Given the description of an element on the screen output the (x, y) to click on. 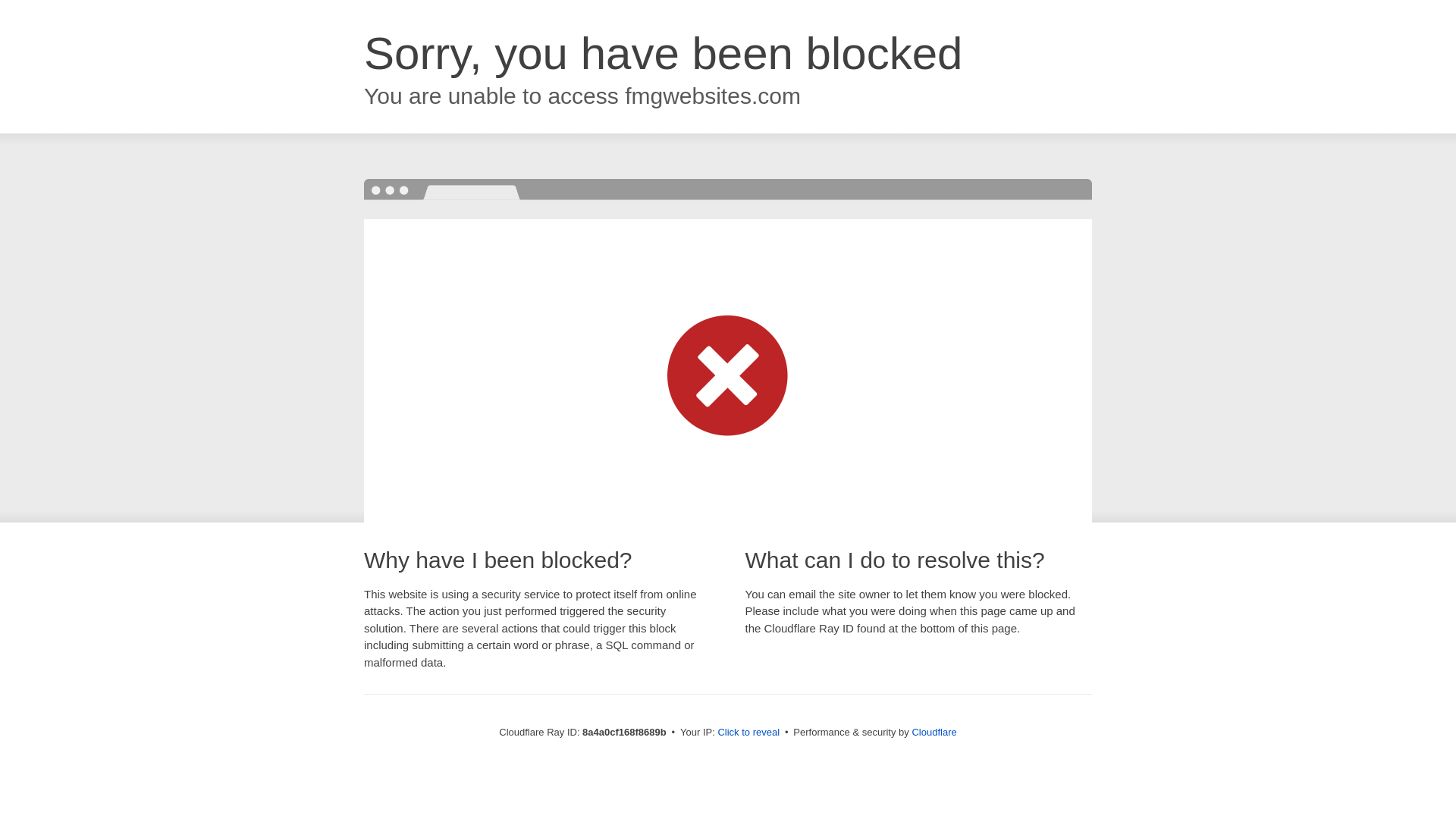
Cloudflare (933, 731)
Click to reveal (747, 732)
